Given the description of an element on the screen output the (x, y) to click on. 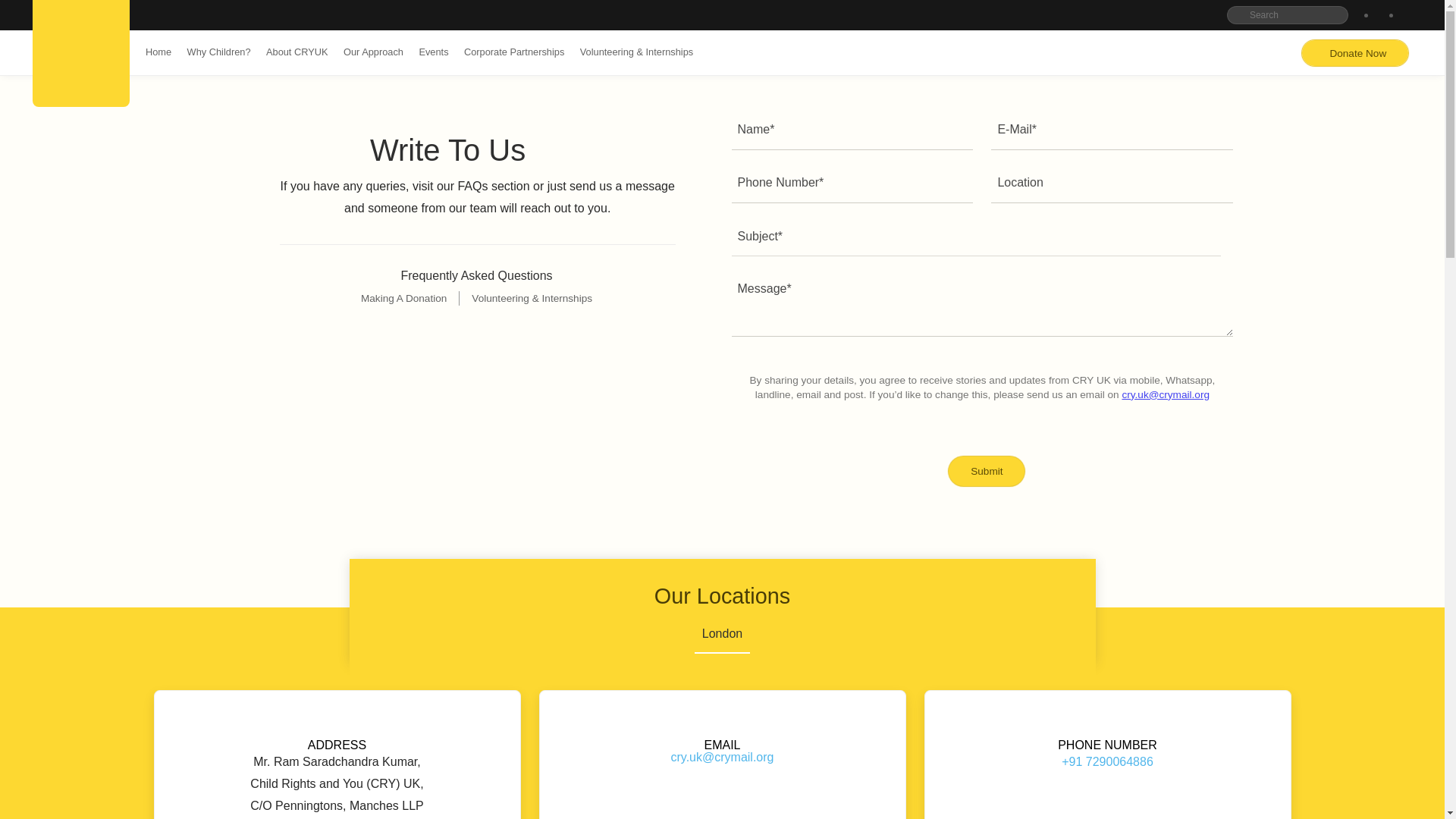
Making A Donation (410, 298)
Submit (987, 471)
Donate Now (1354, 53)
Why Children? (218, 52)
About CRYUK (297, 52)
Submit (987, 471)
Corporate Partnerships (514, 52)
Our Approach (373, 52)
